Given the description of an element on the screen output the (x, y) to click on. 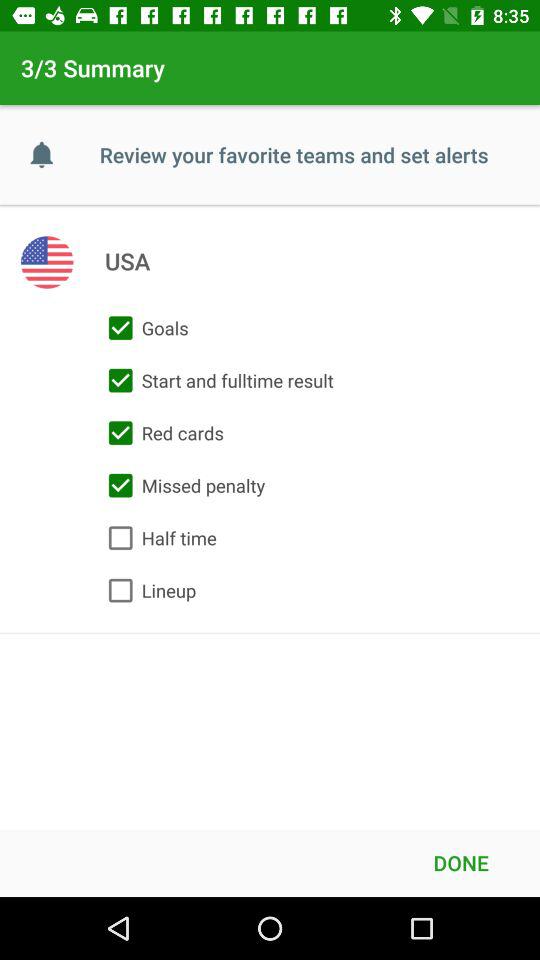
tap the done at the bottom right corner (461, 862)
